Given the description of an element on the screen output the (x, y) to click on. 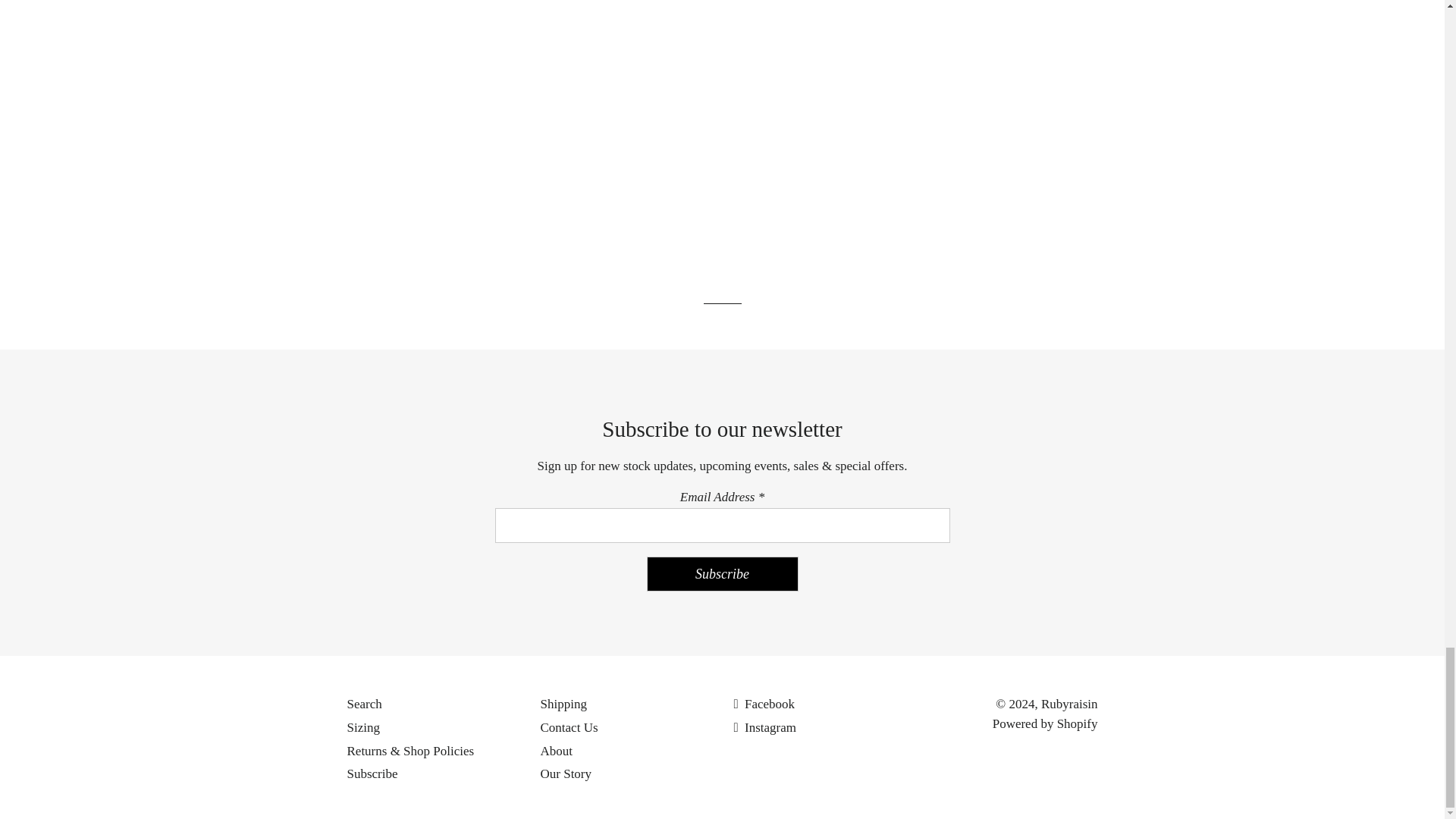
Search (364, 703)
Rubyraisin on Instagram (764, 727)
Sizing (363, 727)
Subscribe (372, 773)
Rubyraisin on Facebook (763, 703)
Subscribe (721, 573)
Contact Us (568, 727)
Shipping (563, 703)
Subscribe (721, 573)
